Given the description of an element on the screen output the (x, y) to click on. 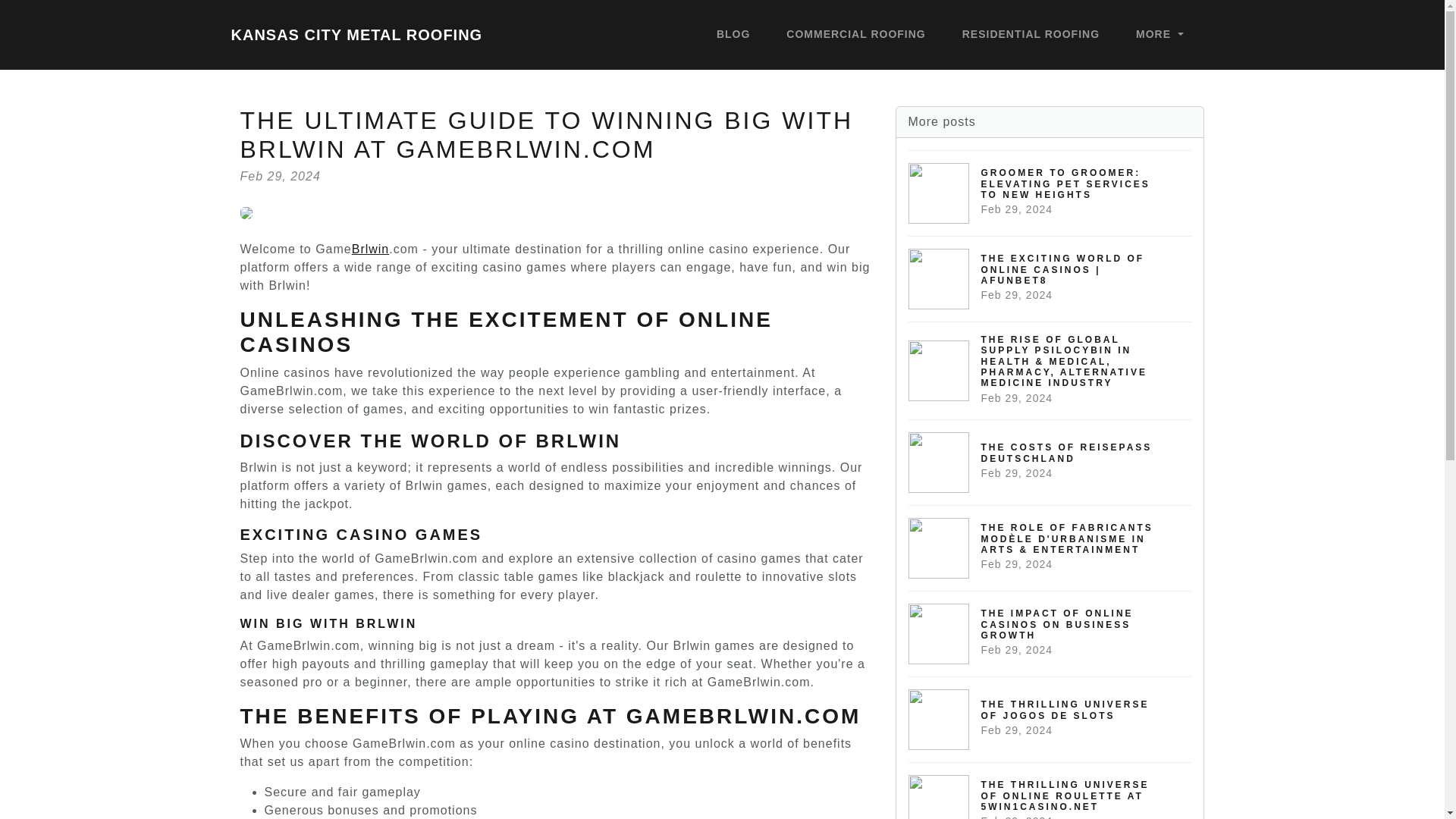
KANSAS CITY METAL ROOFING (355, 34)
Brlwin (371, 248)
MORE (1050, 719)
RESIDENTIAL ROOFING (1050, 633)
COMMERCIAL ROOFING (1159, 34)
BLOG (1030, 34)
